Given the description of an element on the screen output the (x, y) to click on. 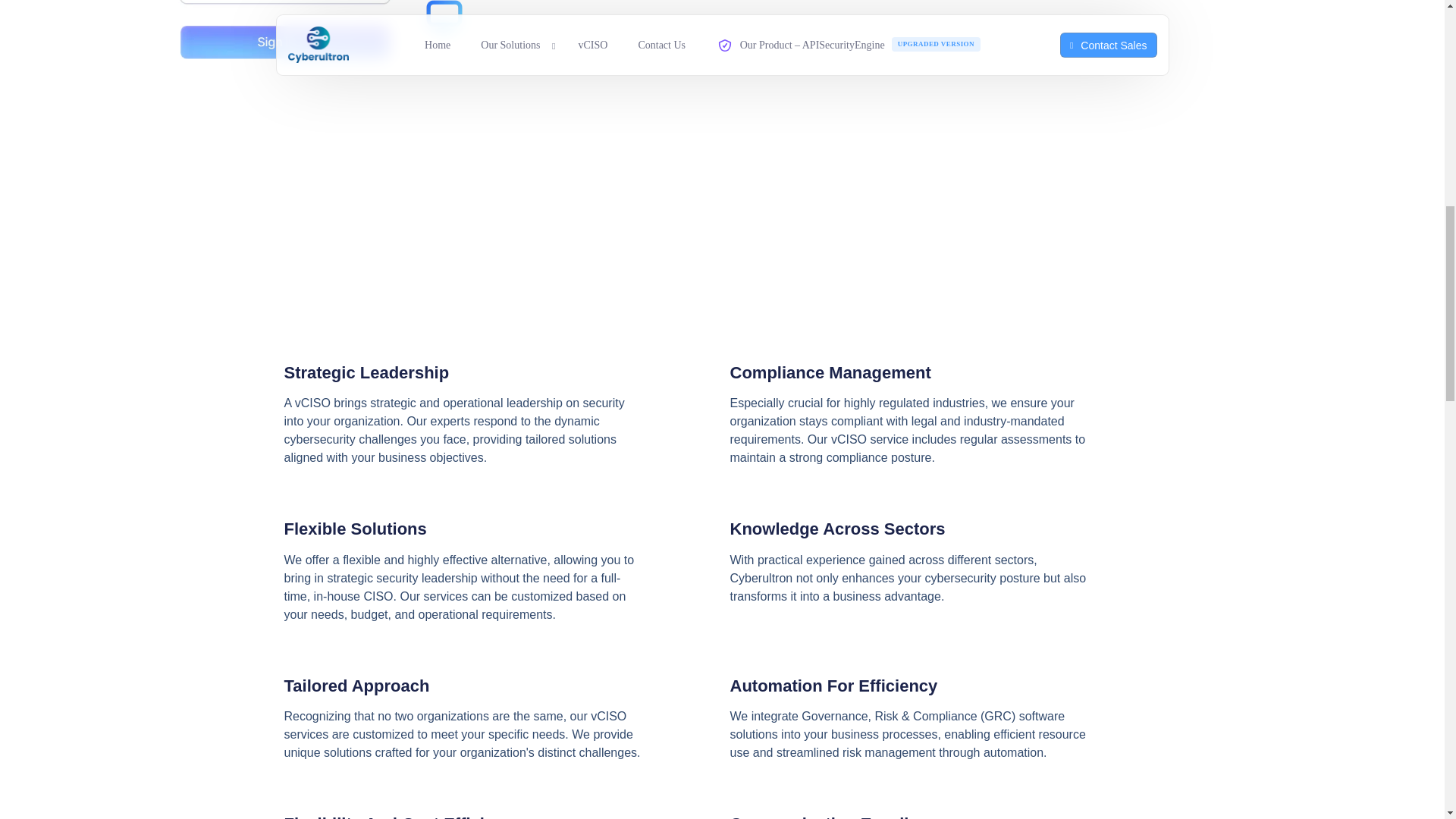
Flexibility And Cost Efficiency (402, 816)
Automation For Efficiency (833, 685)
Flexible Solutions (354, 528)
Compliance Management (829, 372)
Knowledge Across Sectors (836, 528)
Strategic Leadership (365, 372)
Communication Excellence (837, 816)
Tailored Approach (356, 685)
